Given the description of an element on the screen output the (x, y) to click on. 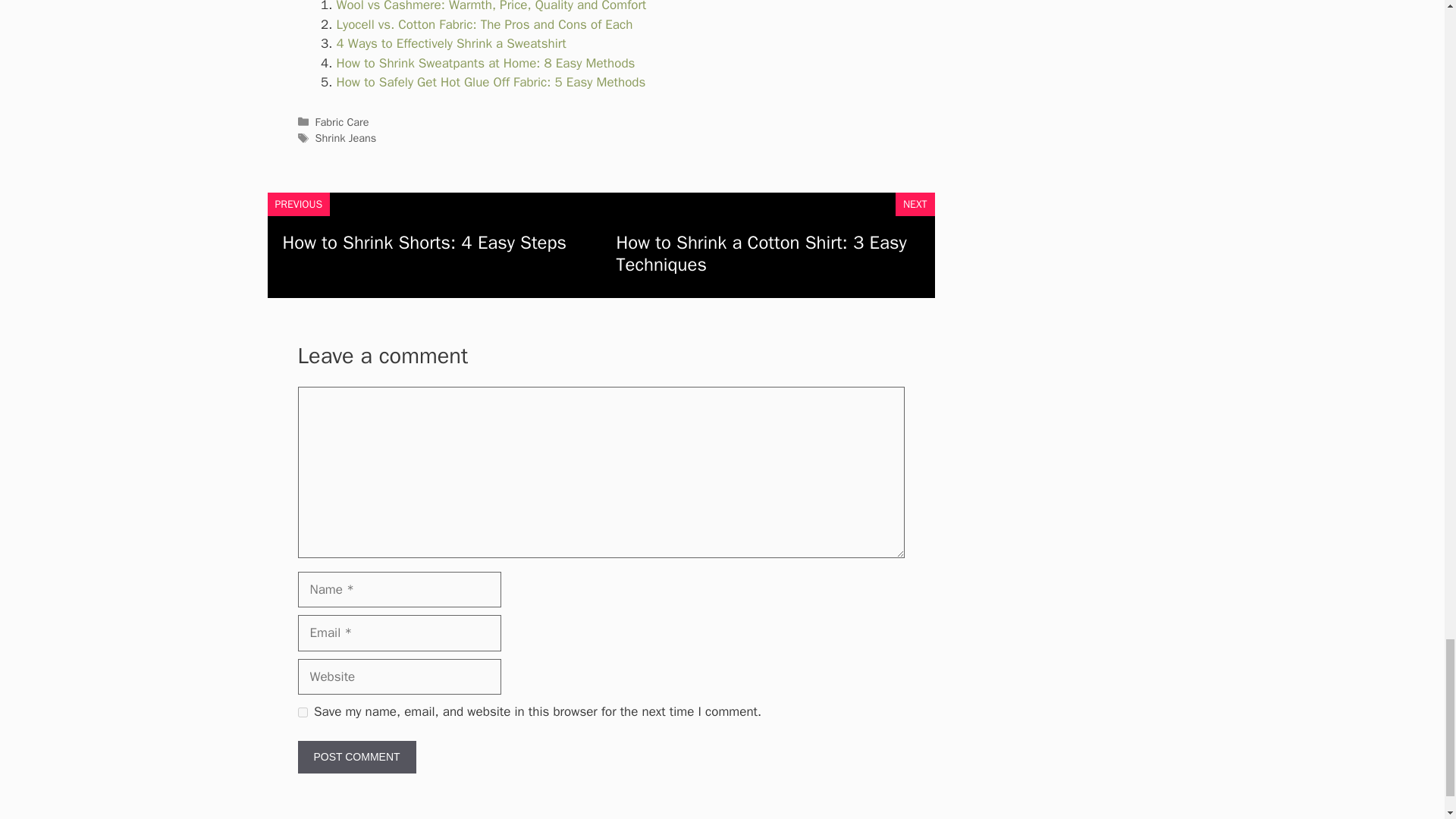
Shrink Jeans (346, 137)
Fabric Care (342, 121)
How to Safely Get Hot Glue Off Fabric: 5 Easy Methods (491, 82)
Wool vs Cashmere: Warmth, Price, Quality and Comfort (491, 6)
How to Shrink Shorts: 4 Easy Steps (424, 241)
How to Shrink Sweatpants at Home: 8 Easy Methods (485, 63)
Post Comment (355, 757)
yes (302, 711)
Post Comment (355, 757)
Lyocell vs. Cotton Fabric: The Pros and Cons of Each (484, 24)
How to Shrink a Cotton Shirt: 3 Easy Techniques (760, 253)
How to Safely Get Hot Glue Off Fabric: 5 Easy Methods (491, 82)
4 Ways to Effectively Shrink a Sweatshirt (451, 43)
4 Ways to Effectively Shrink a Sweatshirt (451, 43)
Lyocell vs. Cotton Fabric: The Pros and Cons of Each (484, 24)
